Given the description of an element on the screen output the (x, y) to click on. 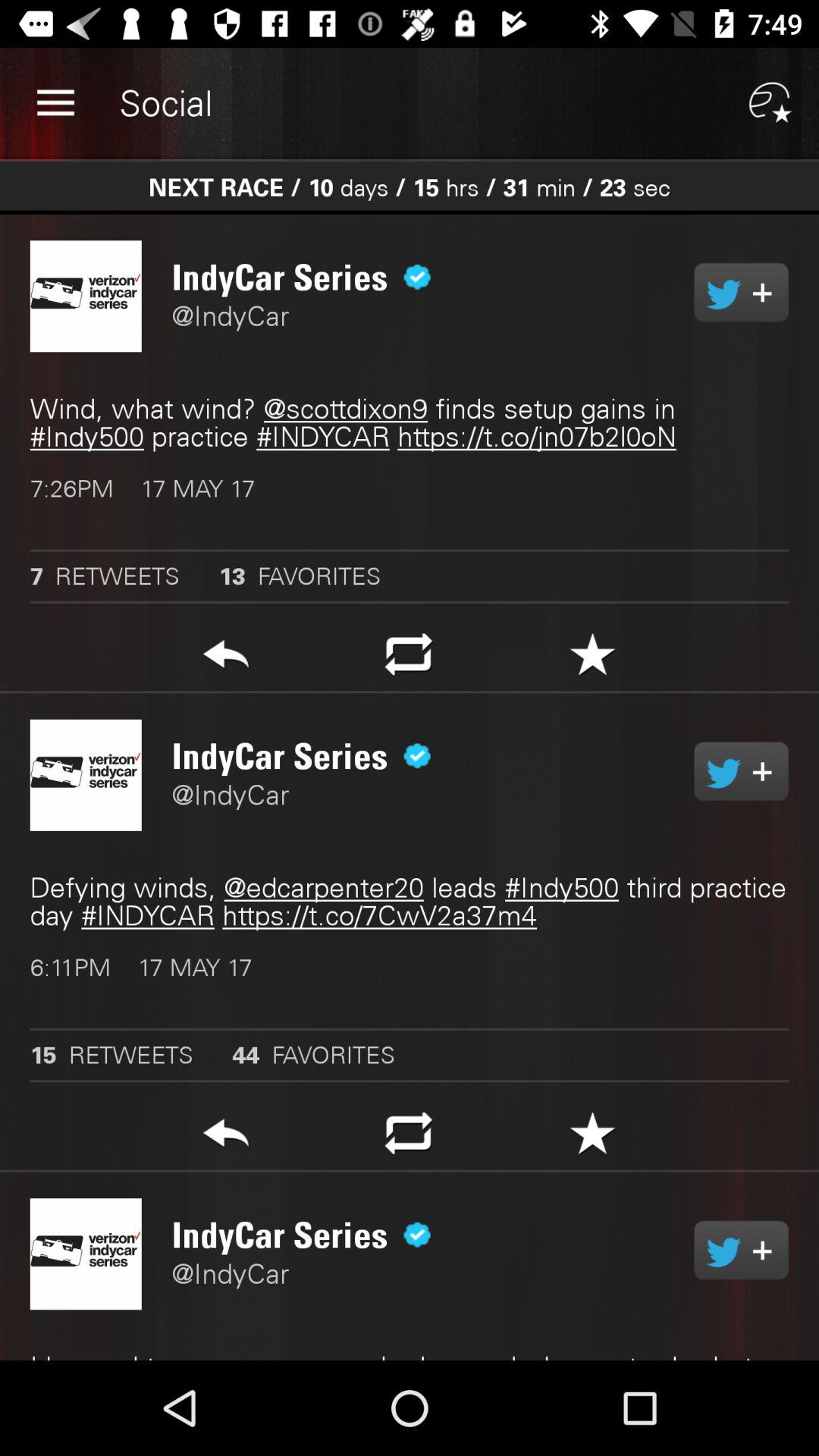
favorite post (592, 658)
